Given the description of an element on the screen output the (x, y) to click on. 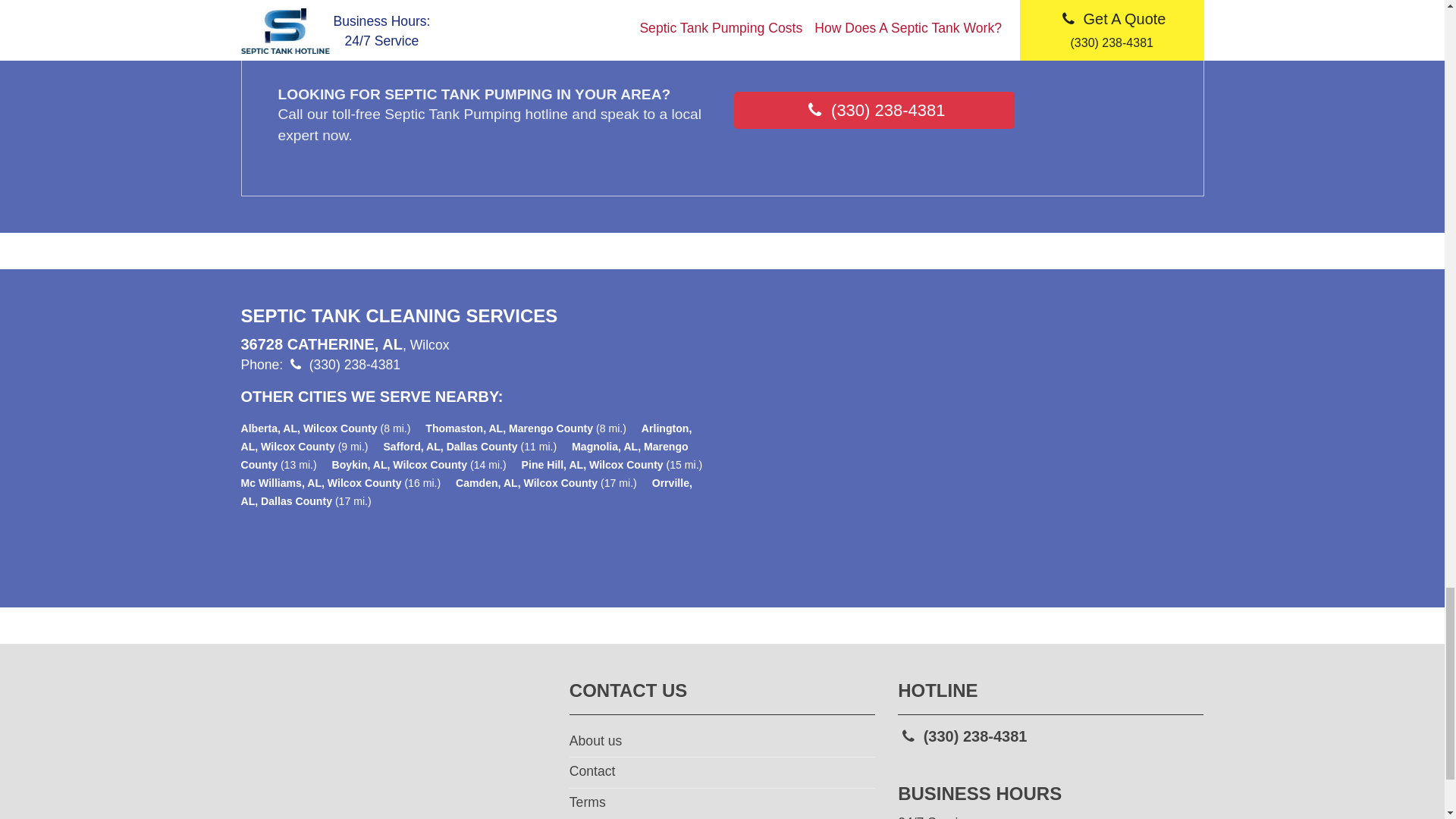
Call a Septic Tank Pumping (873, 109)
About us (722, 742)
Terms (722, 803)
Pine Hill, AL, Wilcox County (592, 464)
Septic Tank Hotline (393, 753)
Orrville, AL, Dallas County (467, 491)
Boykin, AL, Wilcox County (399, 464)
Camden, AL, Wilcox County (525, 482)
Magnolia, AL, Marengo County (464, 455)
Septic Tank Hotline (393, 754)
Arlington, AL, Wilcox County (467, 437)
Alberta, AL, Wilcox County (309, 428)
Thomaston, AL, Marengo County (508, 428)
Contact (722, 772)
Safford, AL, Dallas County (449, 446)
